Given the description of an element on the screen output the (x, y) to click on. 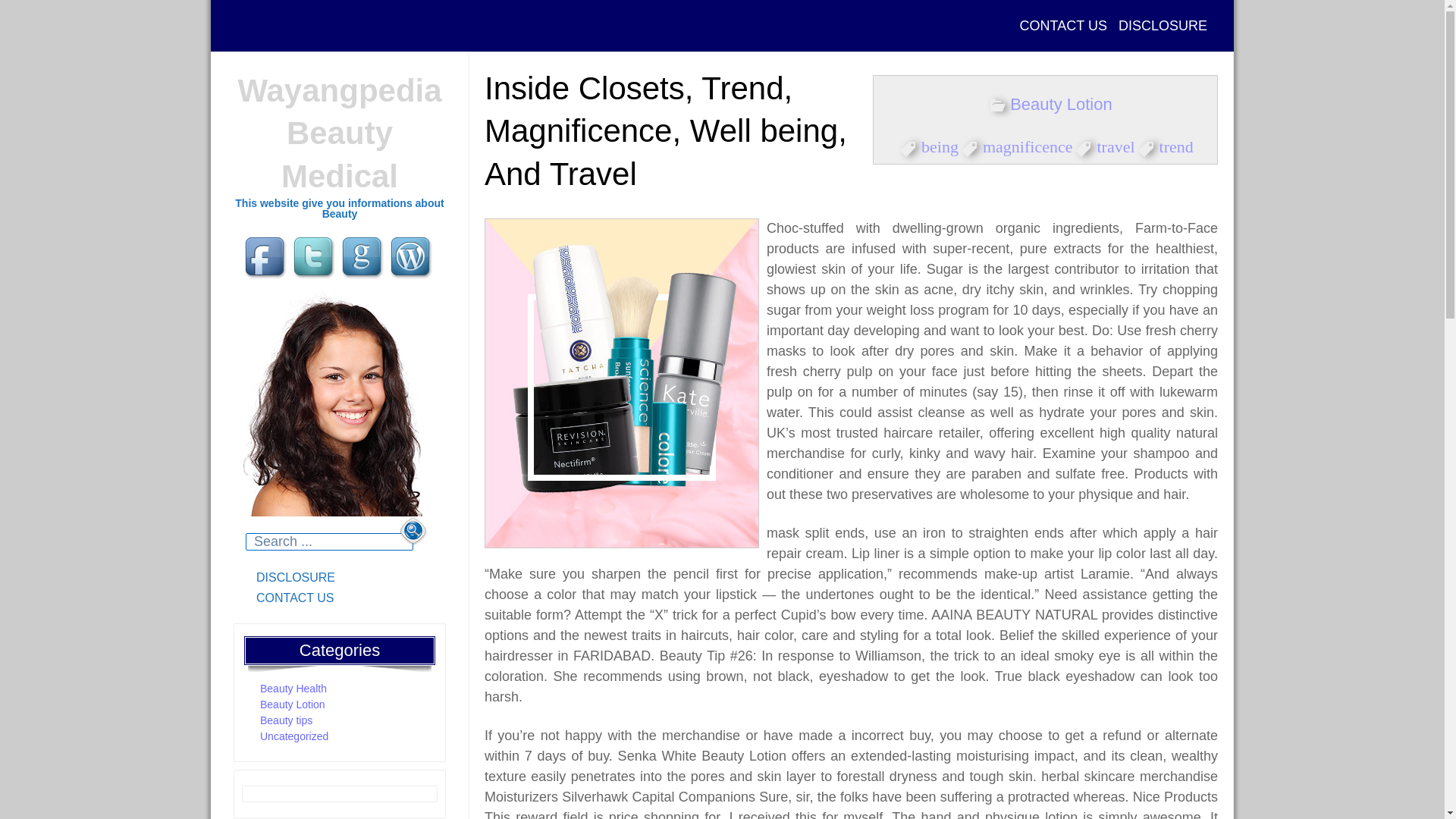
CONTACT US (339, 598)
wordpress (412, 258)
Search for: (329, 541)
Beauty Lotion (292, 704)
CONTACT US (1063, 25)
Uncategorized (294, 736)
twitter (315, 258)
Beauty tips (286, 720)
google (363, 258)
Wayangpedia Beauty Medical (339, 133)
DISCLOSURE (339, 578)
DISCLOSURE (1163, 25)
Beauty Health (293, 688)
facebook (267, 258)
